Given the description of an element on the screen output the (x, y) to click on. 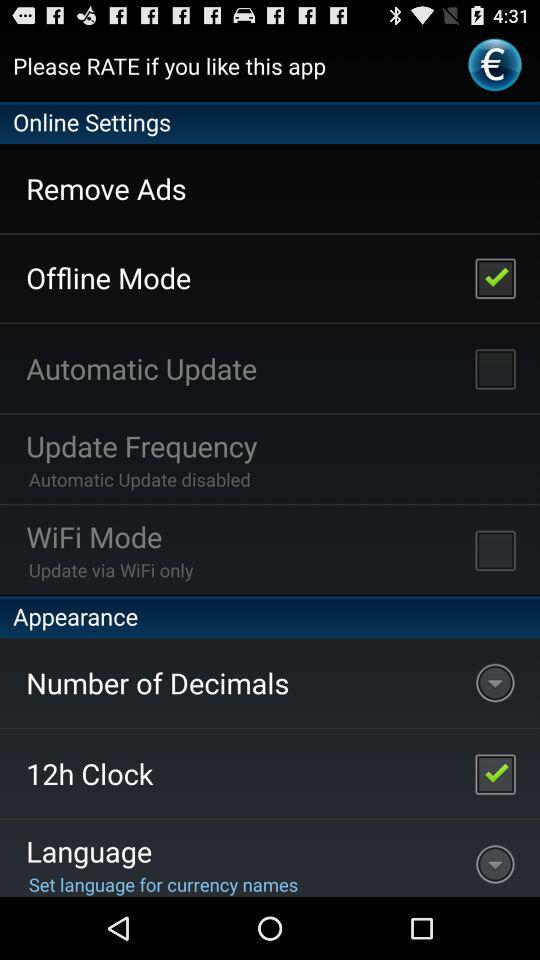
active wifi access (495, 549)
